Given the description of an element on the screen output the (x, y) to click on. 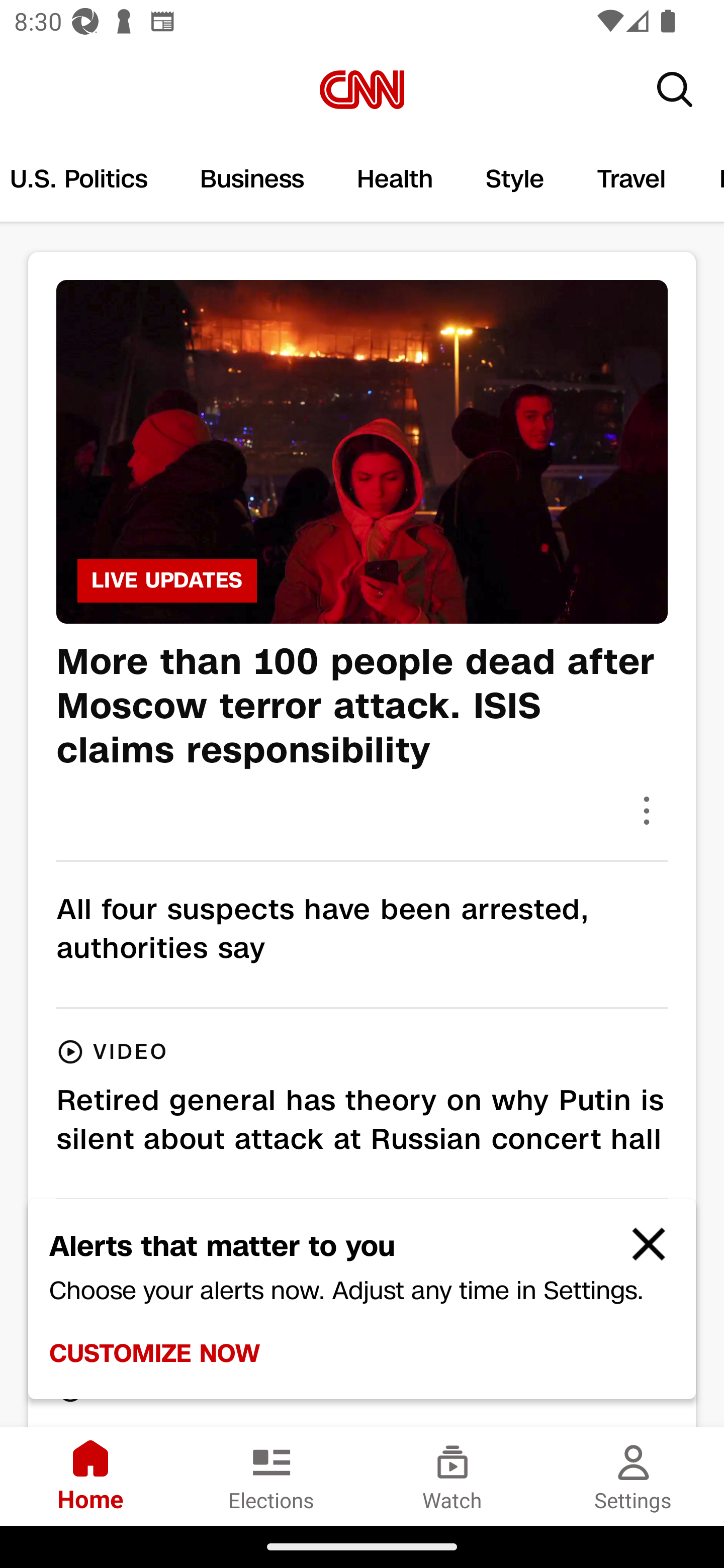
U.S. Politics (86, 179)
Business (251, 179)
Health (394, 179)
Style (515, 179)
Travel (631, 179)
More actions (646, 810)
close (639, 1251)
Elections (271, 1475)
Watch (452, 1475)
Settings (633, 1475)
